Given the description of an element on the screen output the (x, y) to click on. 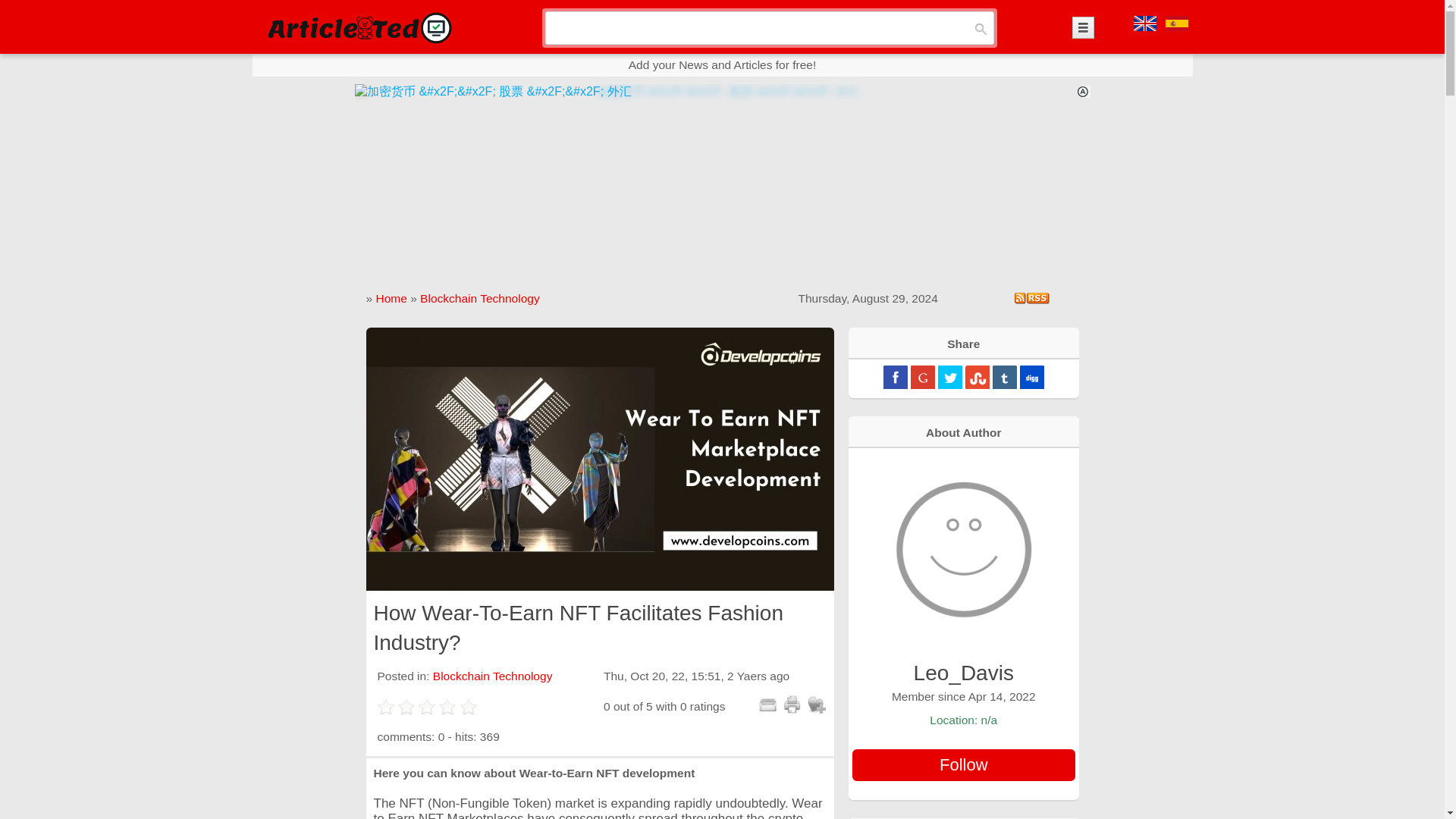
Home (390, 297)
Follow (963, 765)
ArticleTed -  News and Articles (357, 27)
Blockchain Technology (492, 675)
Blockchain Technology (480, 297)
How Wear-To-Earn NFT Facilitates Fashion Industry? (598, 458)
